Given the description of an element on the screen output the (x, y) to click on. 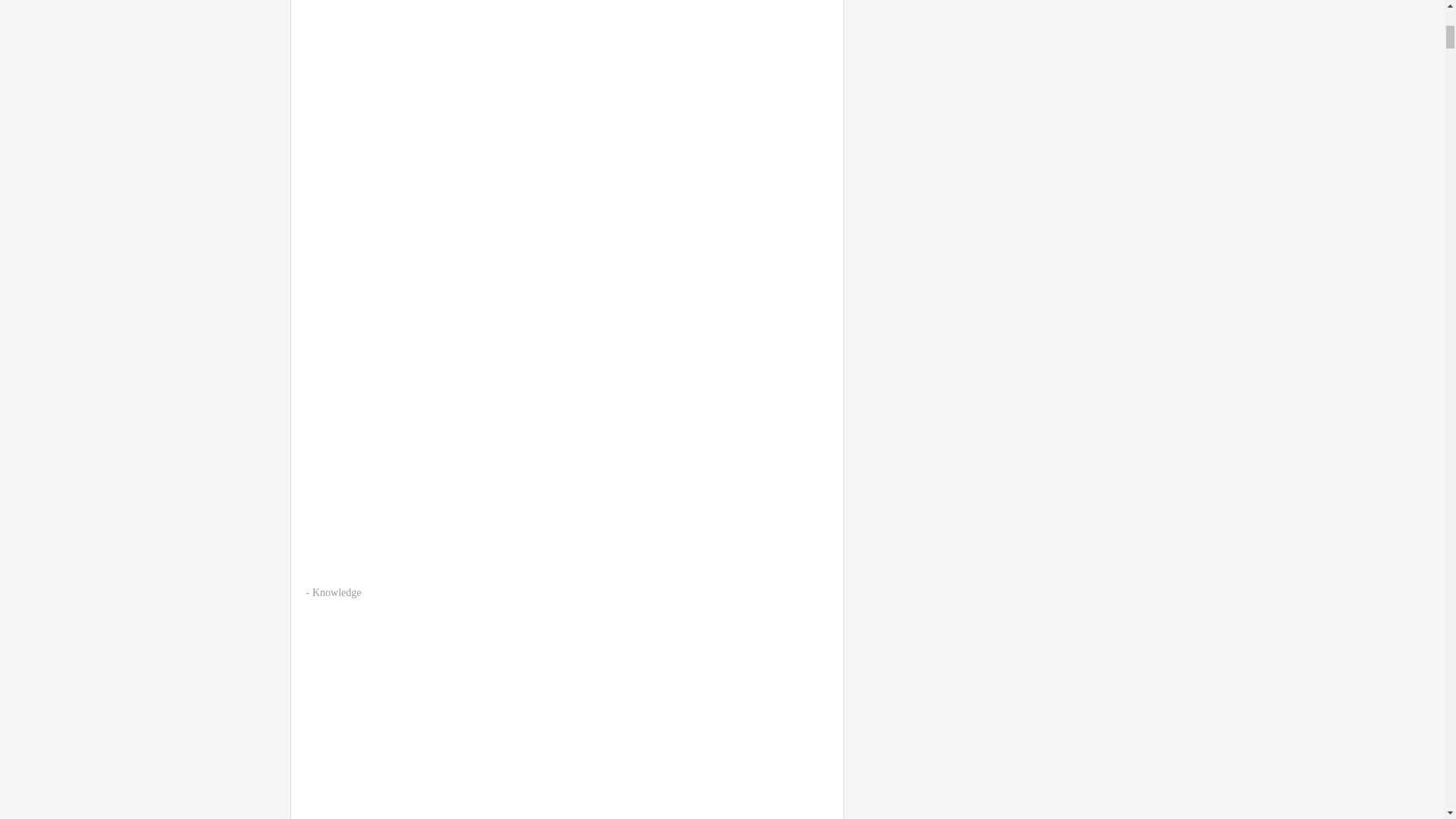
Knowledge (337, 592)
